Given the description of an element on the screen output the (x, y) to click on. 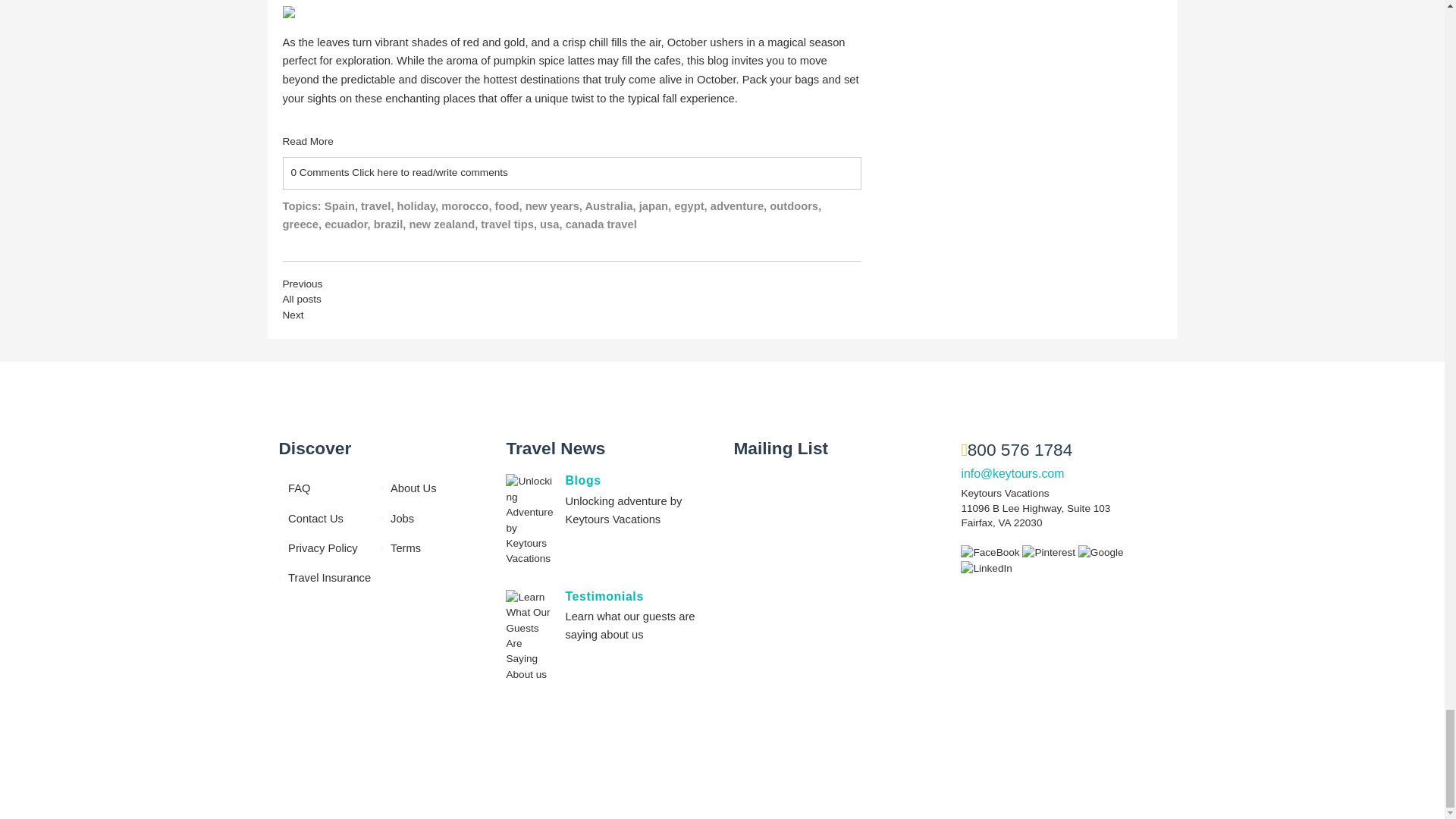
facebook (991, 552)
pinterest (1049, 552)
google (1101, 552)
linked id (985, 568)
